Given the description of an element on the screen output the (x, y) to click on. 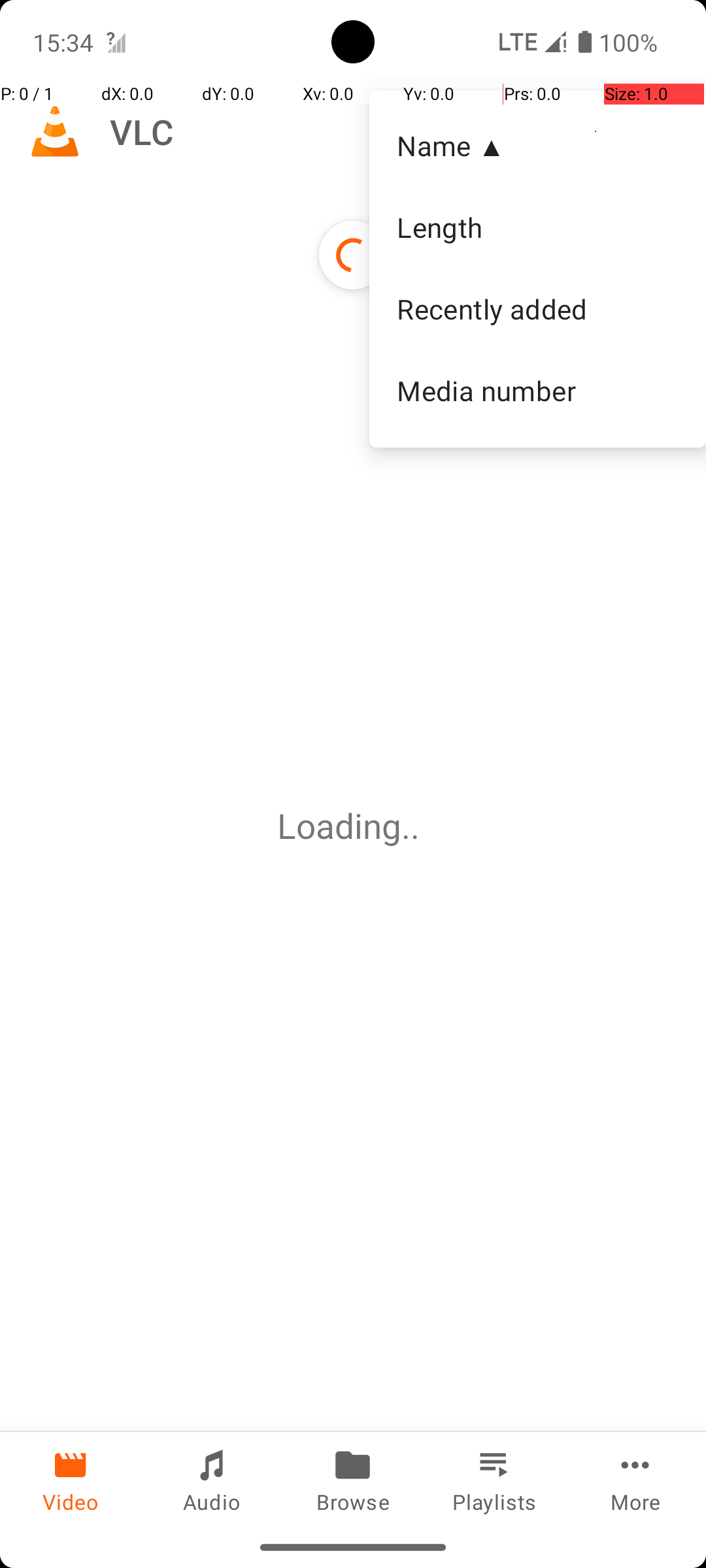
Name. Ascending Element type: android.widget.LinearLayout (537, 145)
Length Element type: android.widget.LinearLayout (537, 227)
Recently added Element type: android.widget.LinearLayout (537, 308)
Name ▲ Element type: android.widget.TextView (537, 145)
Media number Element type: android.widget.TextView (537, 389)
